Given the description of an element on the screen output the (x, y) to click on. 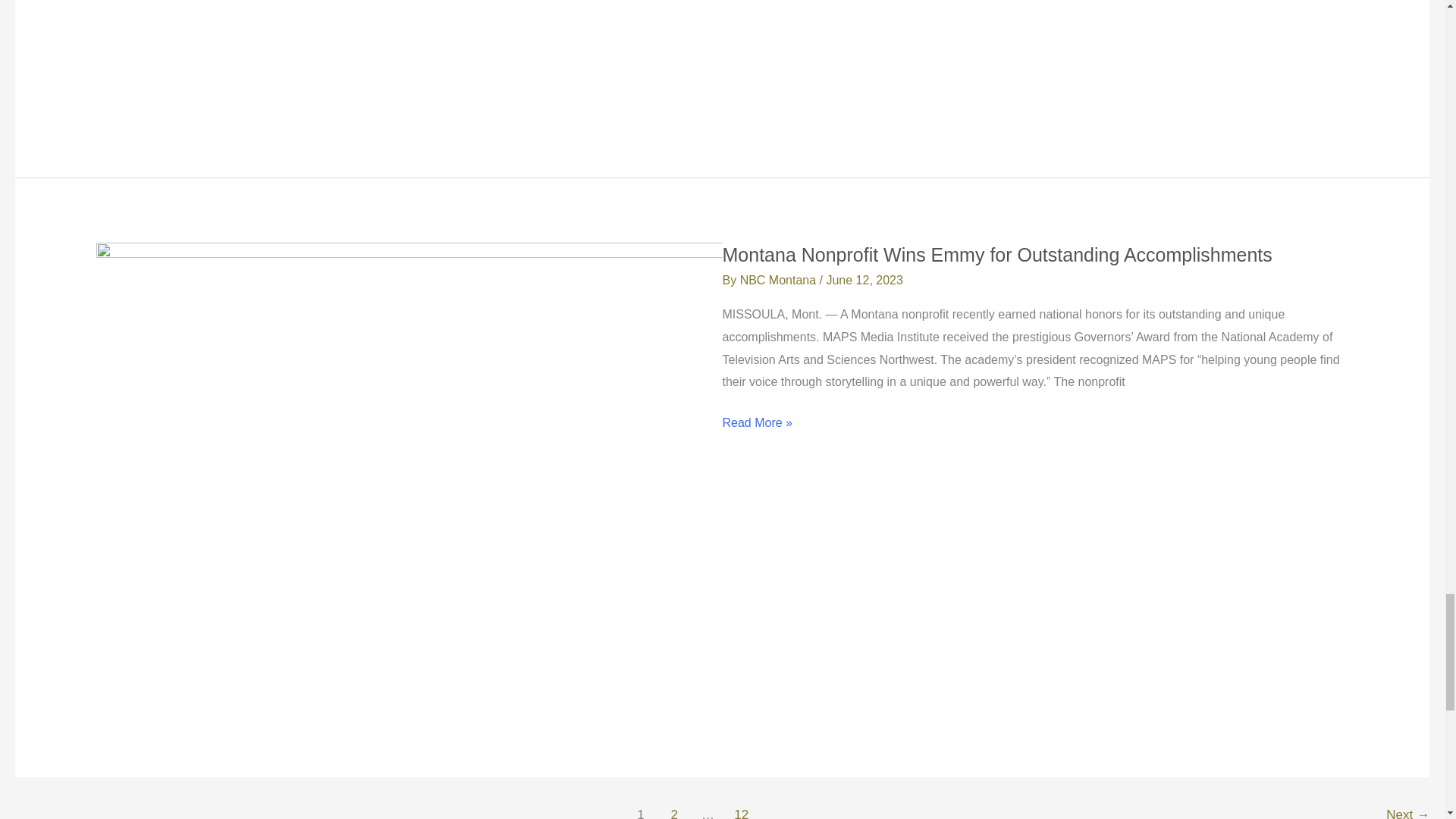
View all posts by NBC Montana (779, 279)
